Given the description of an element on the screen output the (x, y) to click on. 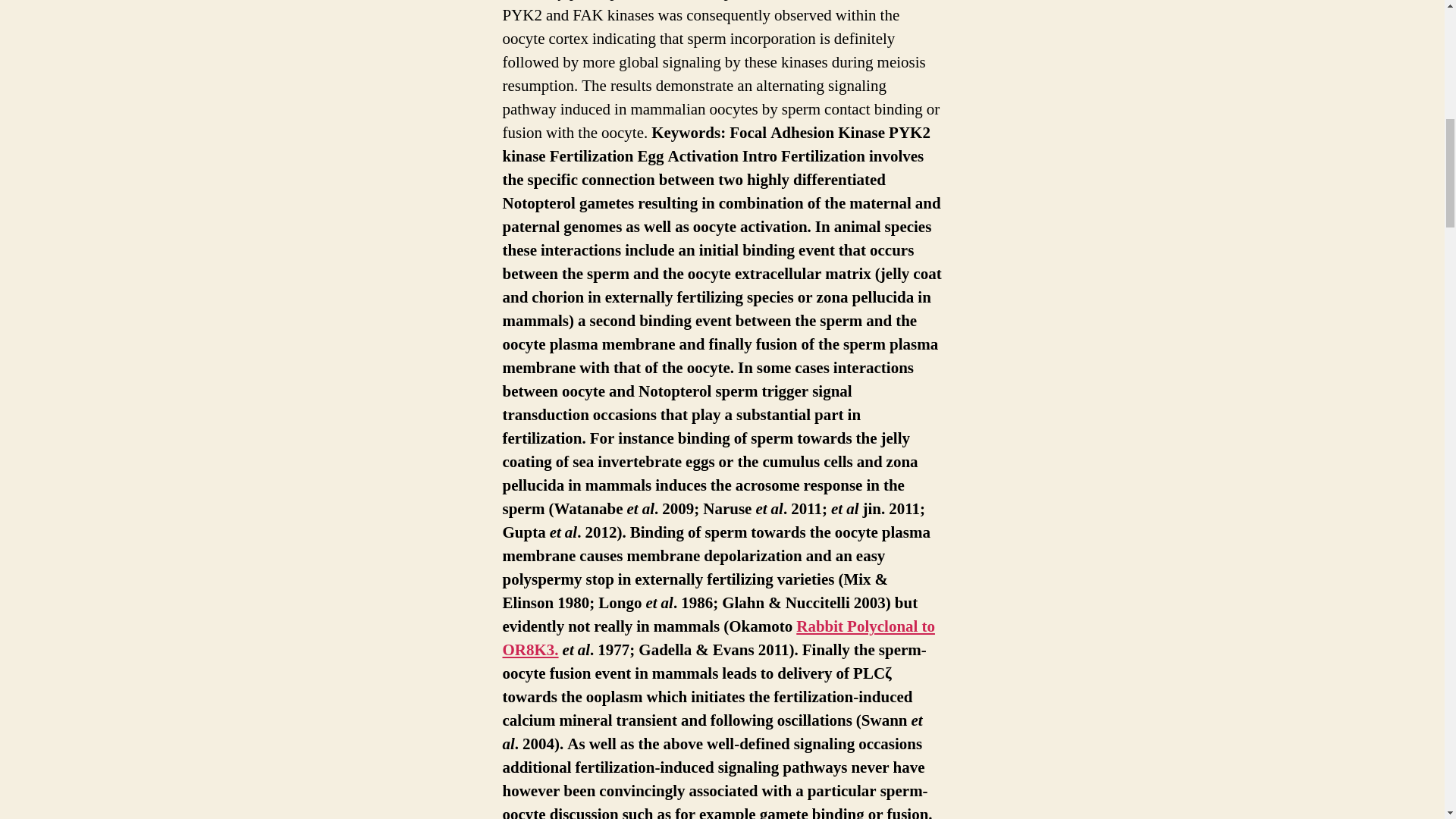
Rabbit Polyclonal to OR8K3. (718, 638)
